Given the description of an element on the screen output the (x, y) to click on. 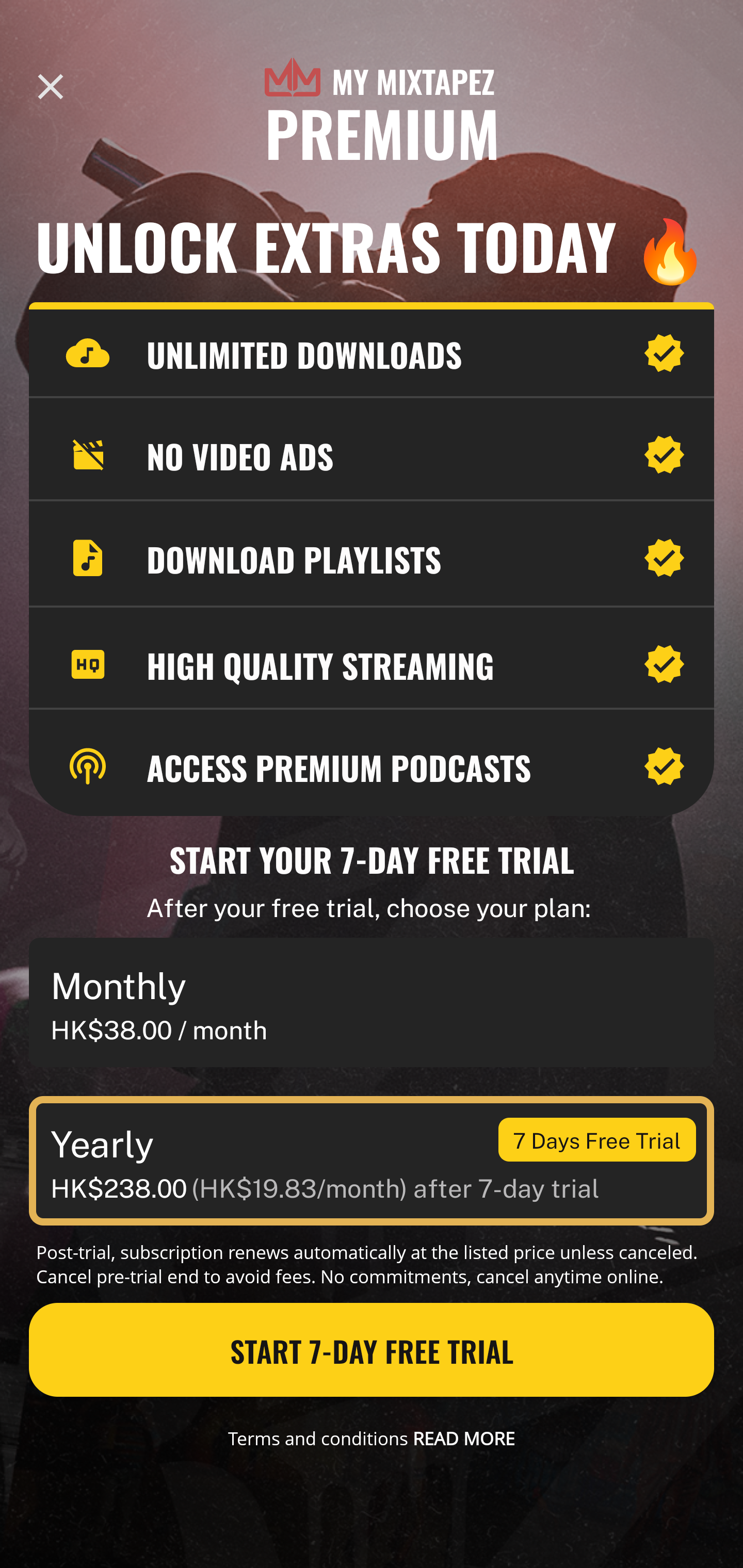
Description (50, 86)
Monthly HK$38.00 / month (371, 1002)
START 7-DAY FREE TRIAL (371, 1350)
Terms and conditions READ MORE (371, 1437)
